Given the description of an element on the screen output the (x, y) to click on. 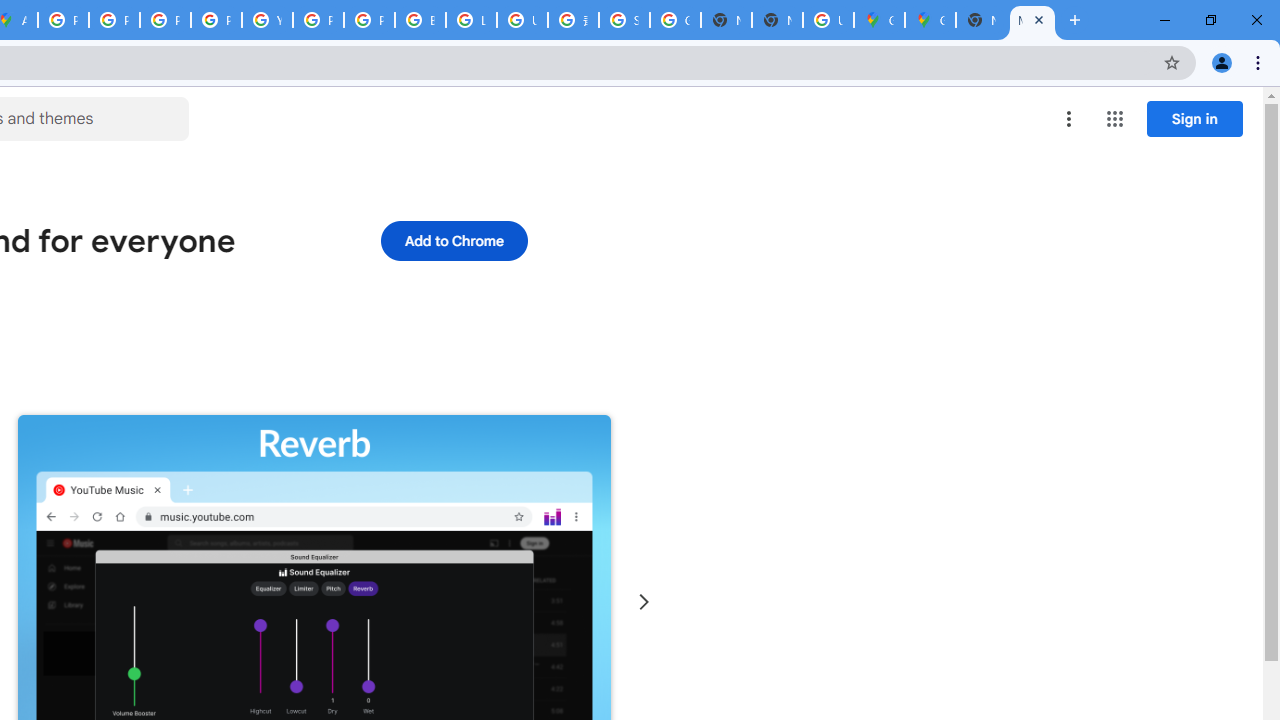
Add to Chrome (453, 240)
YouTube (267, 20)
Privacy Help Center - Policies Help (164, 20)
More options menu (1069, 118)
